Given the description of an element on the screen output the (x, y) to click on. 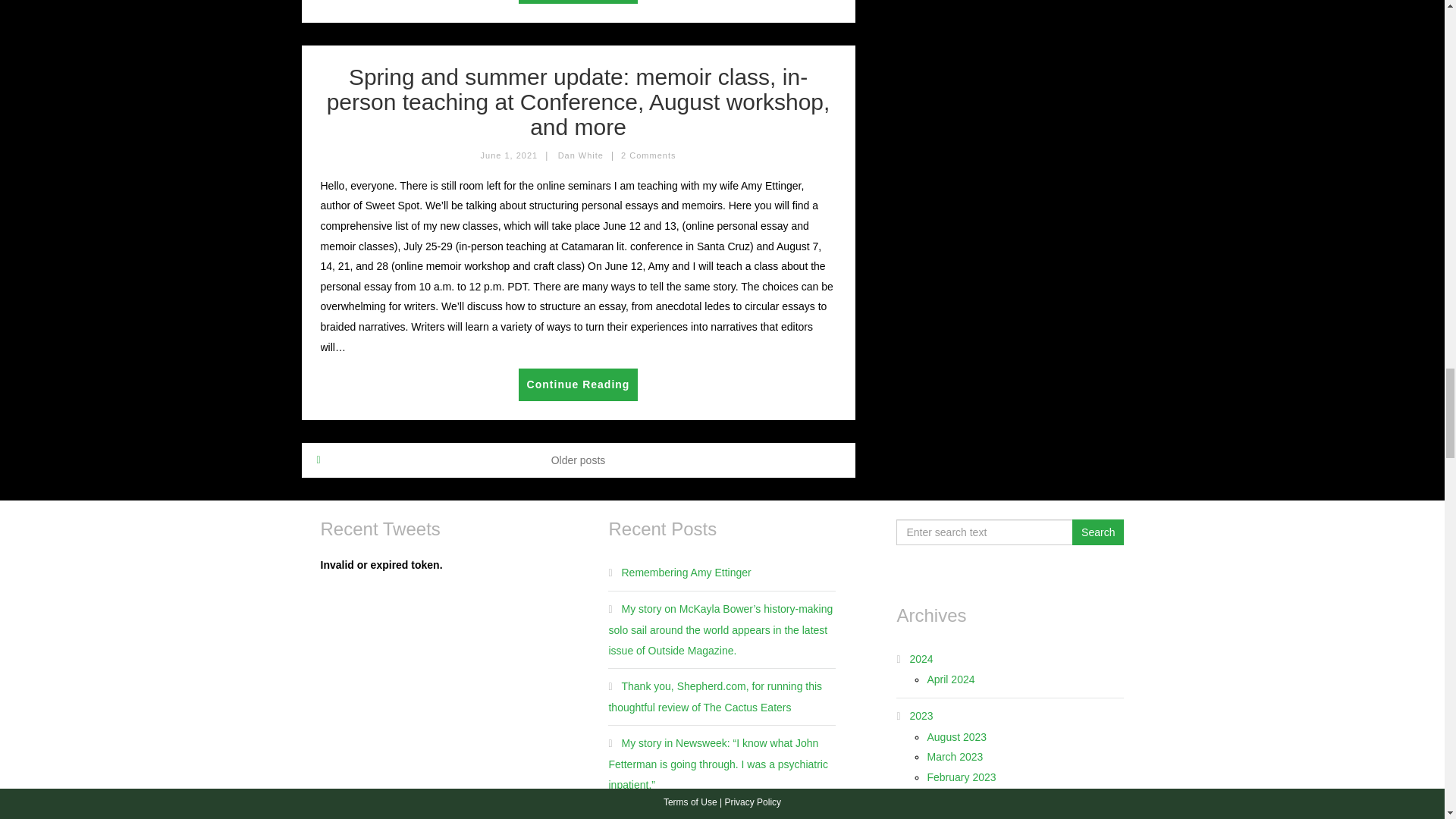
Search (1097, 532)
